Given the description of an element on the screen output the (x, y) to click on. 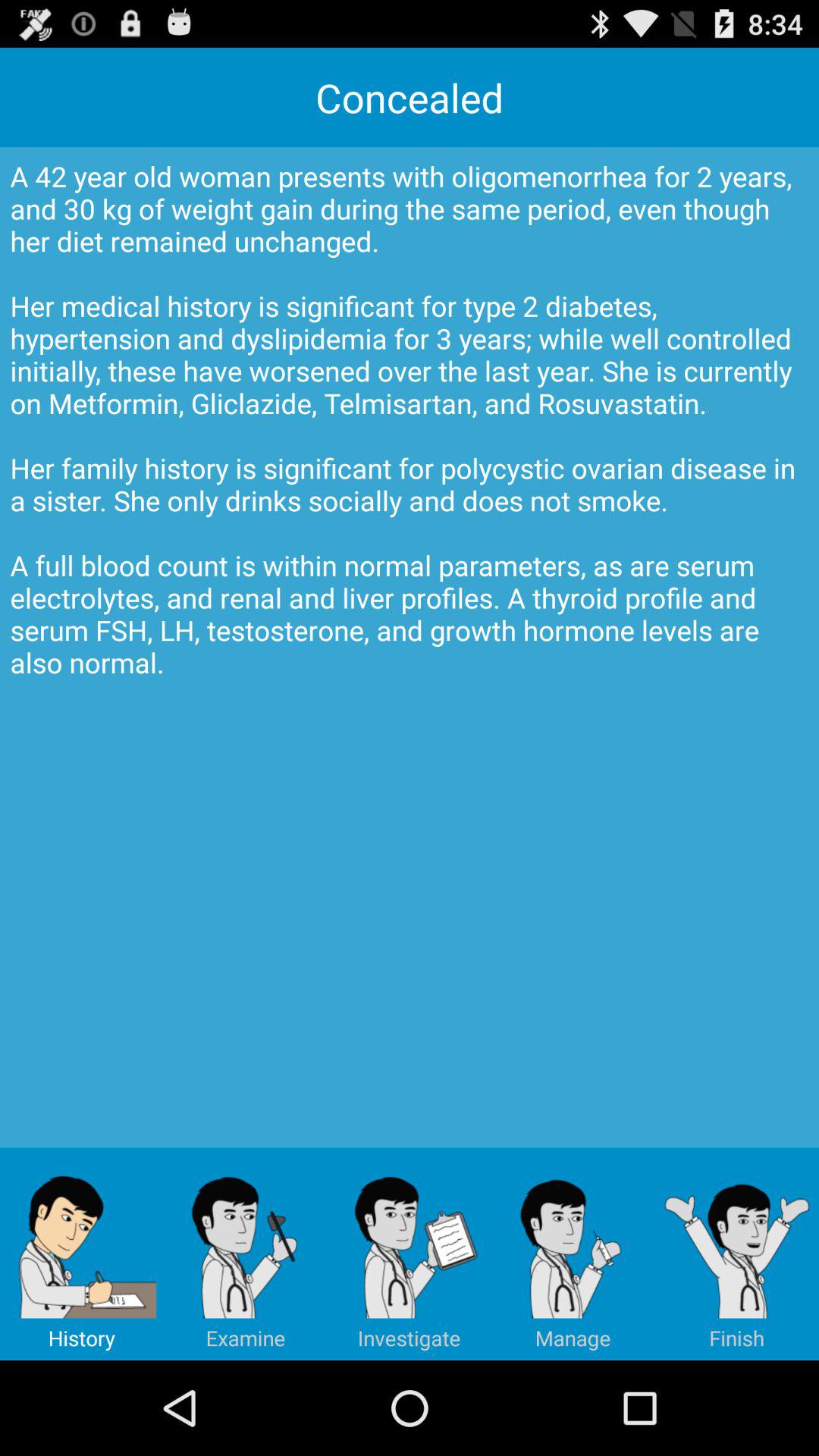
turn on item at the bottom (409, 1253)
